Given the description of an element on the screen output the (x, y) to click on. 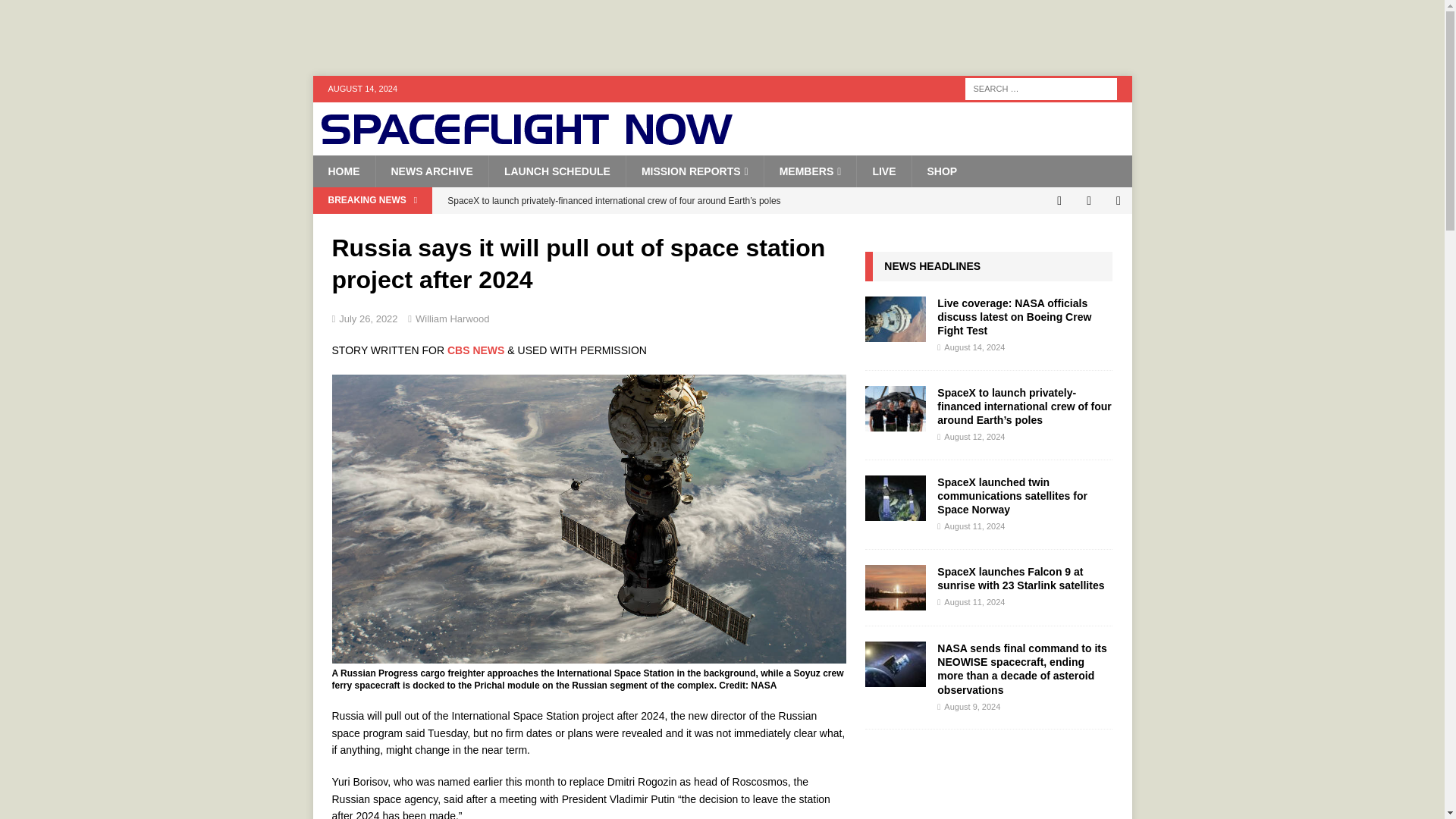
Search (56, 11)
